Given the description of an element on the screen output the (x, y) to click on. 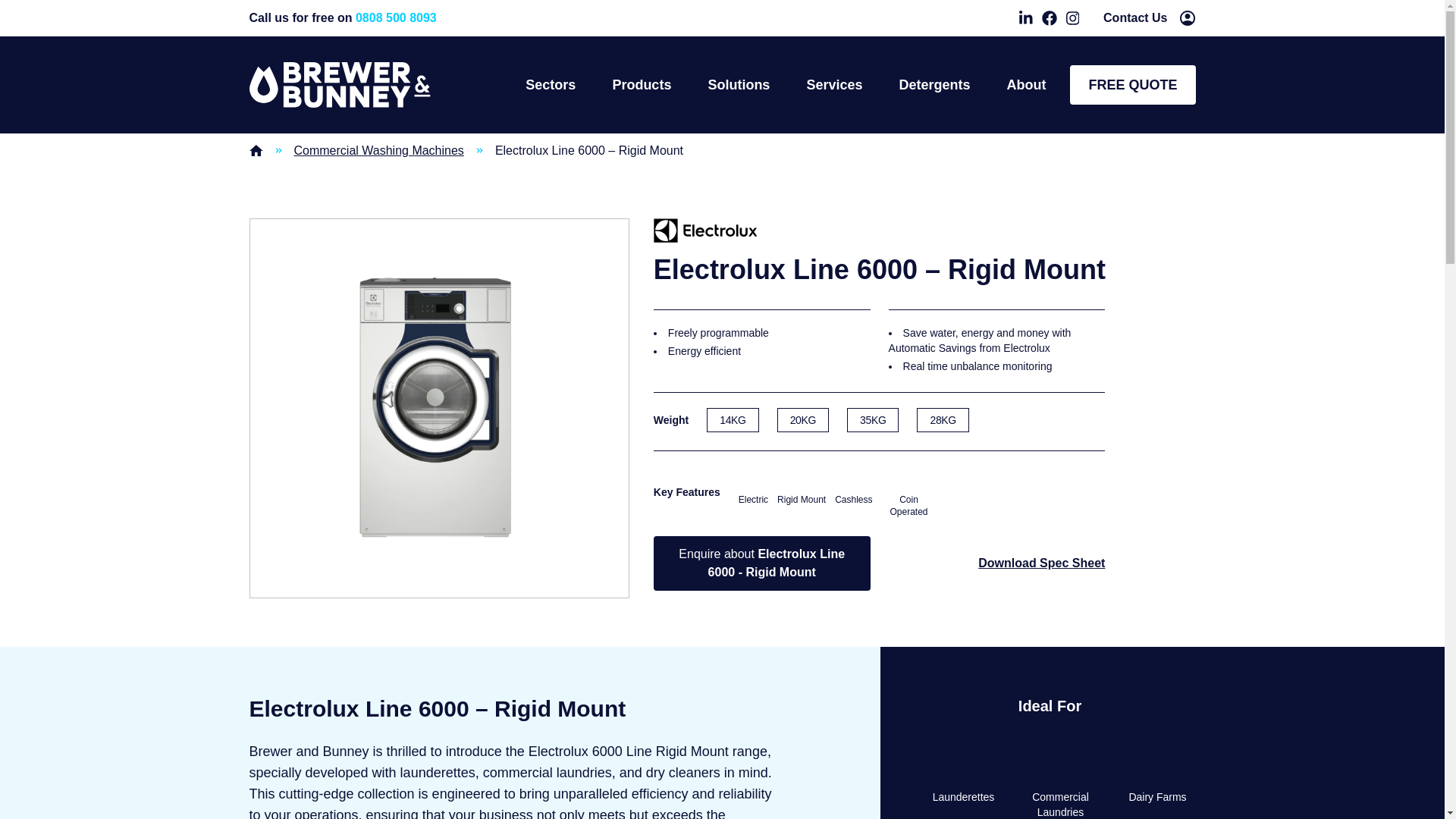
0808 500 8093 (395, 17)
Services (834, 84)
Contact Us (1135, 18)
Login Here (1187, 17)
Instagram (1072, 17)
Products (640, 84)
Solutions (738, 84)
LinkedIn (1025, 17)
Sectors (550, 84)
Facebook (1049, 17)
